Given the description of an element on the screen output the (x, y) to click on. 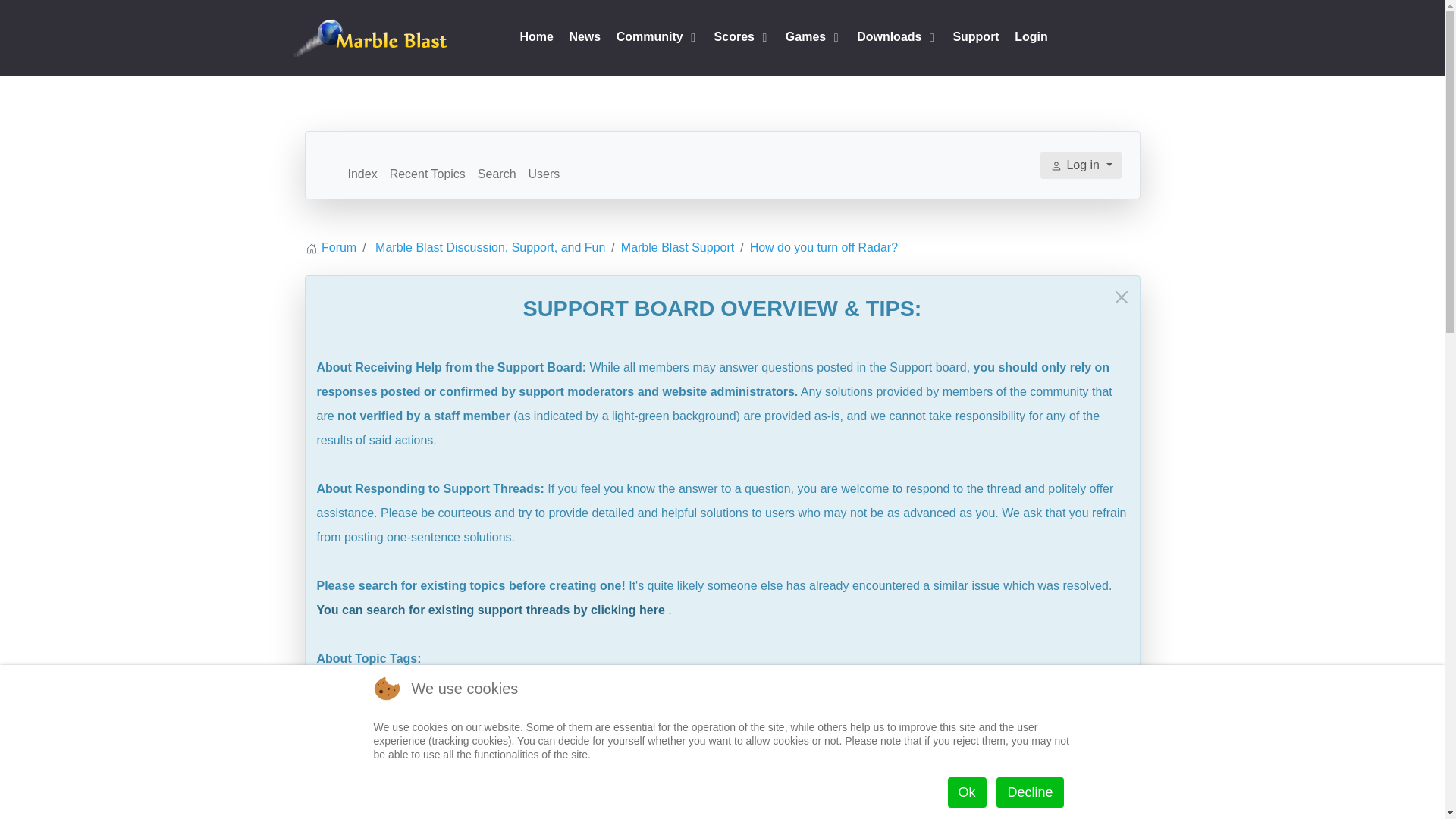
News (584, 38)
Home (536, 38)
Downloads (897, 38)
Games (813, 38)
Scores (742, 38)
Community (656, 38)
